Given the description of an element on the screen output the (x, y) to click on. 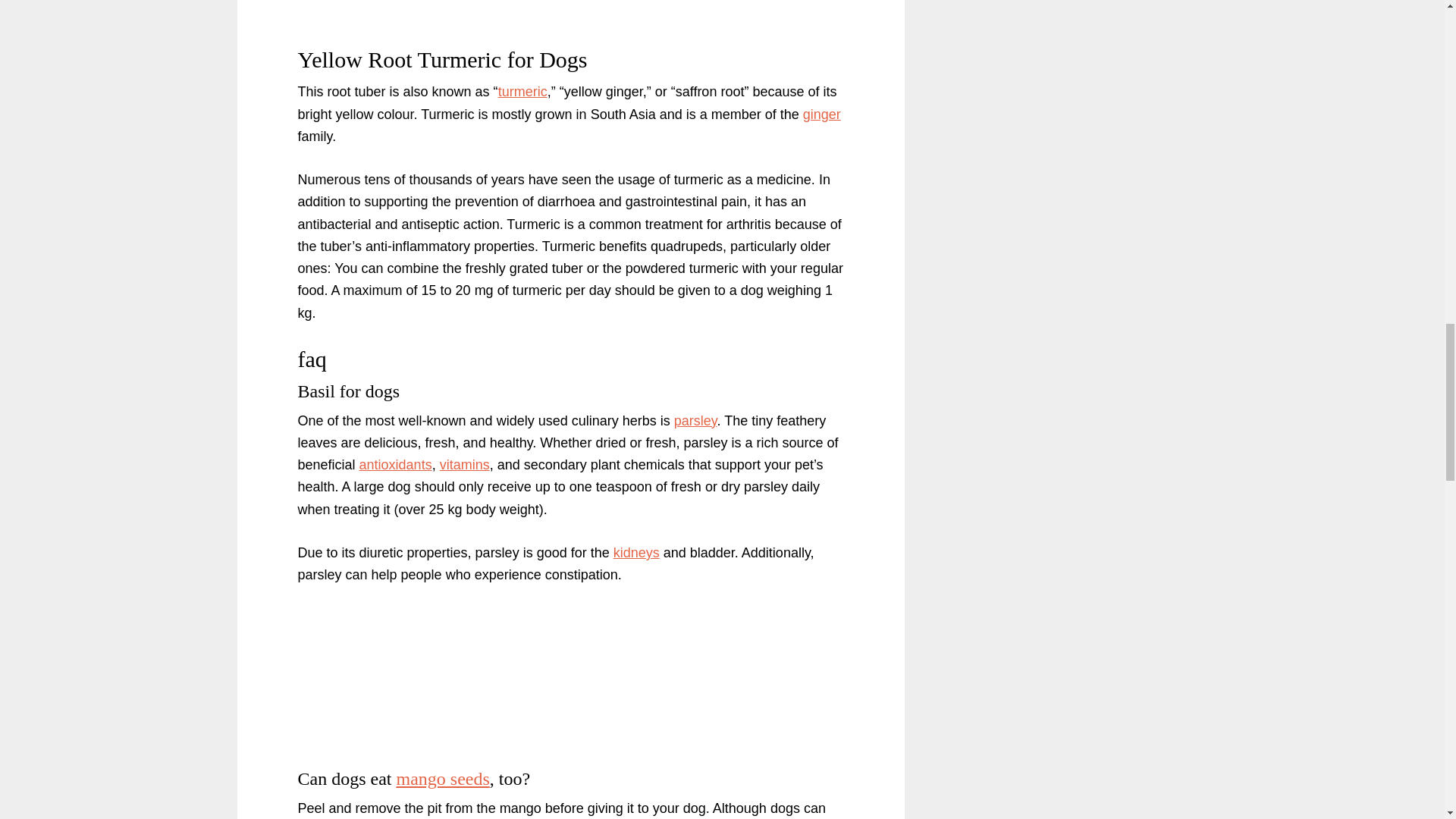
antioxidants (395, 464)
ginger (822, 114)
parsley (695, 420)
turmeric (522, 91)
